Given the description of an element on the screen output the (x, y) to click on. 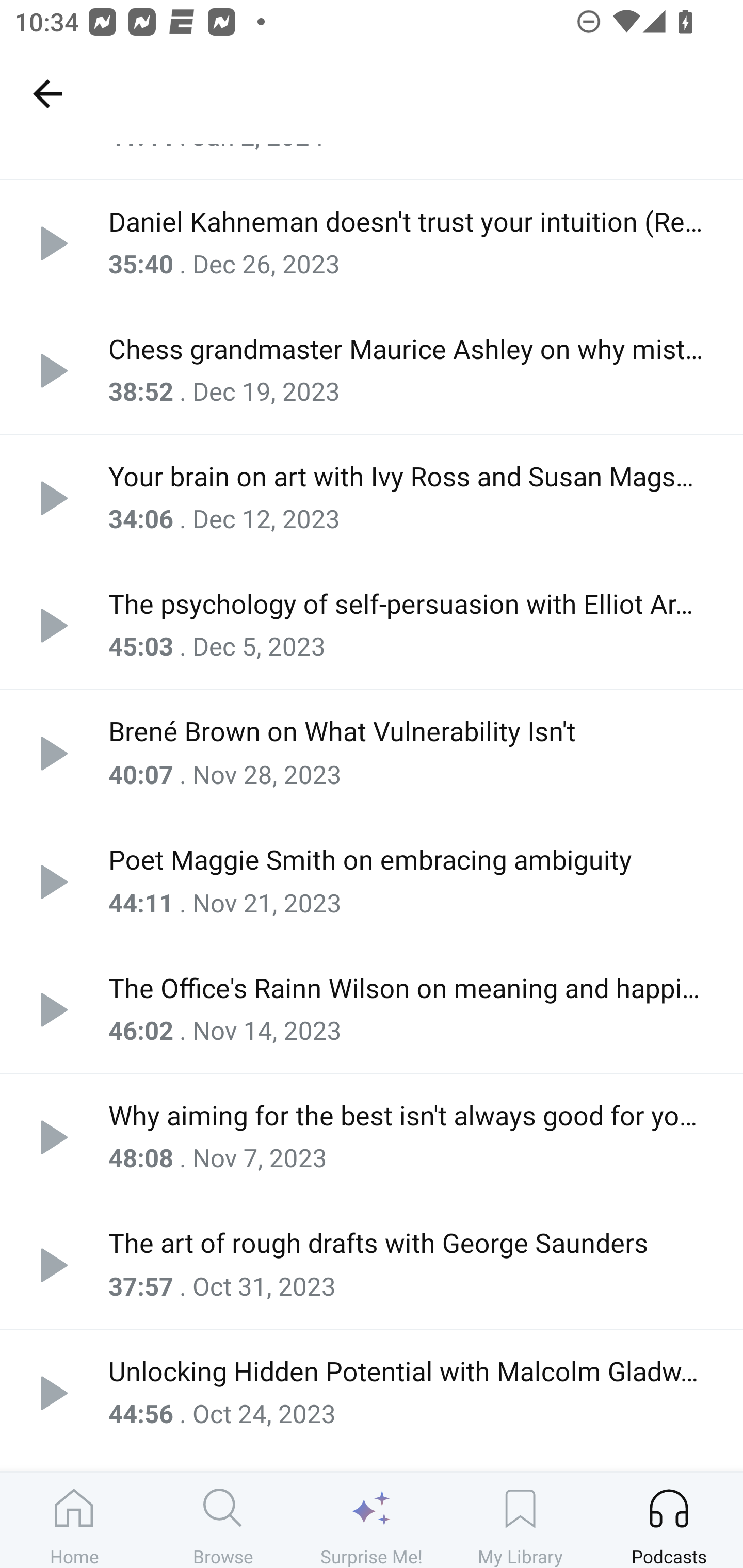
TED Podcasts, back (47, 92)
Home (74, 1520)
Browse (222, 1520)
Surprise Me! (371, 1520)
My Library (519, 1520)
Podcasts (668, 1520)
